Given the description of an element on the screen output the (x, y) to click on. 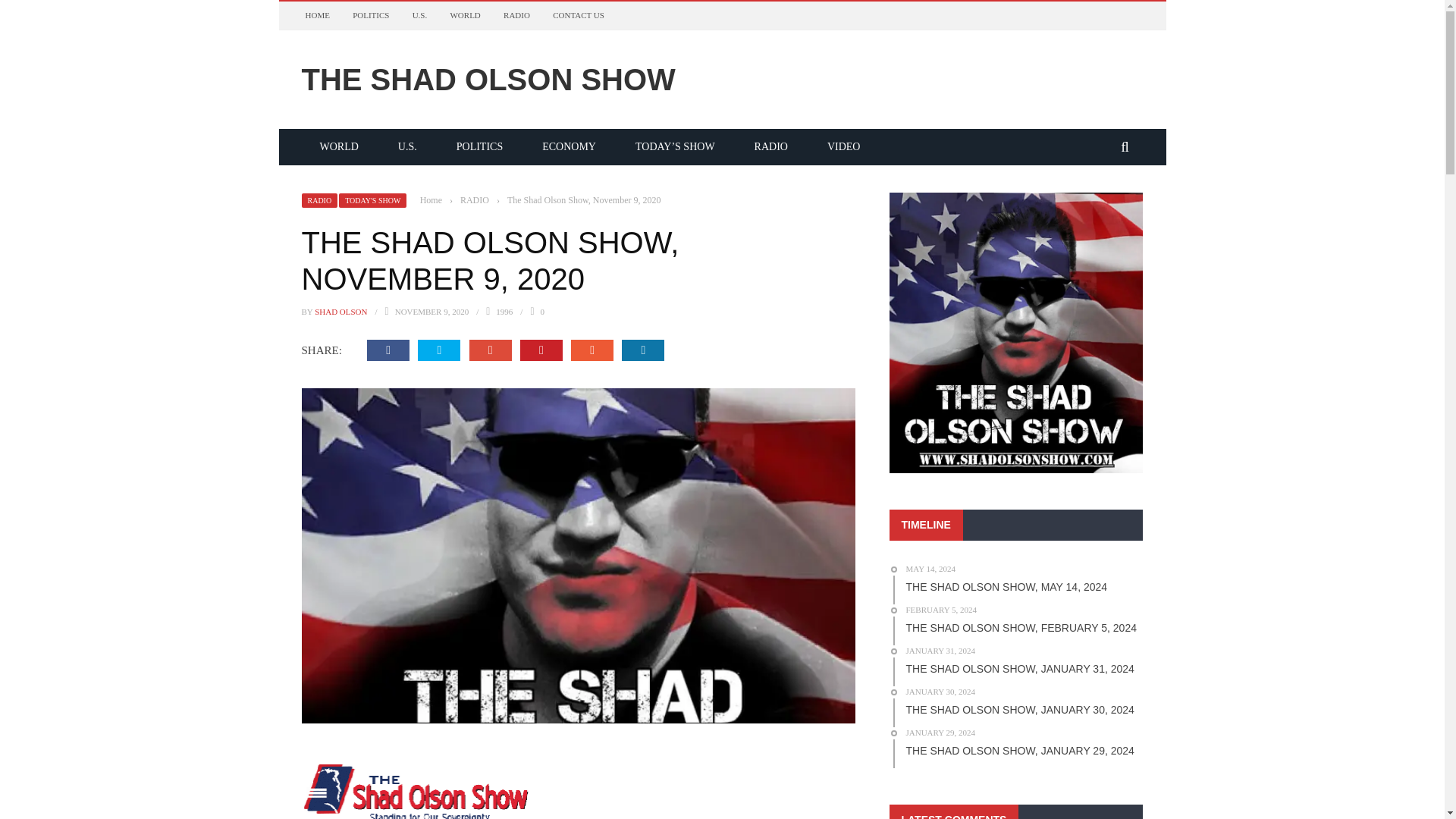
POLITICS (479, 146)
WORLD (464, 14)
WORLD (339, 146)
RADIO (516, 14)
Home (431, 199)
VIDEO (844, 146)
POLITICS (370, 14)
THE SHAD OLSON SHOW (721, 78)
RADIO (474, 199)
TODAY'S SHOW (372, 199)
RADIO (319, 199)
ECONOMY (569, 146)
RADIO (771, 146)
U.S. (420, 14)
U.S. (407, 146)
